Given the description of an element on the screen output the (x, y) to click on. 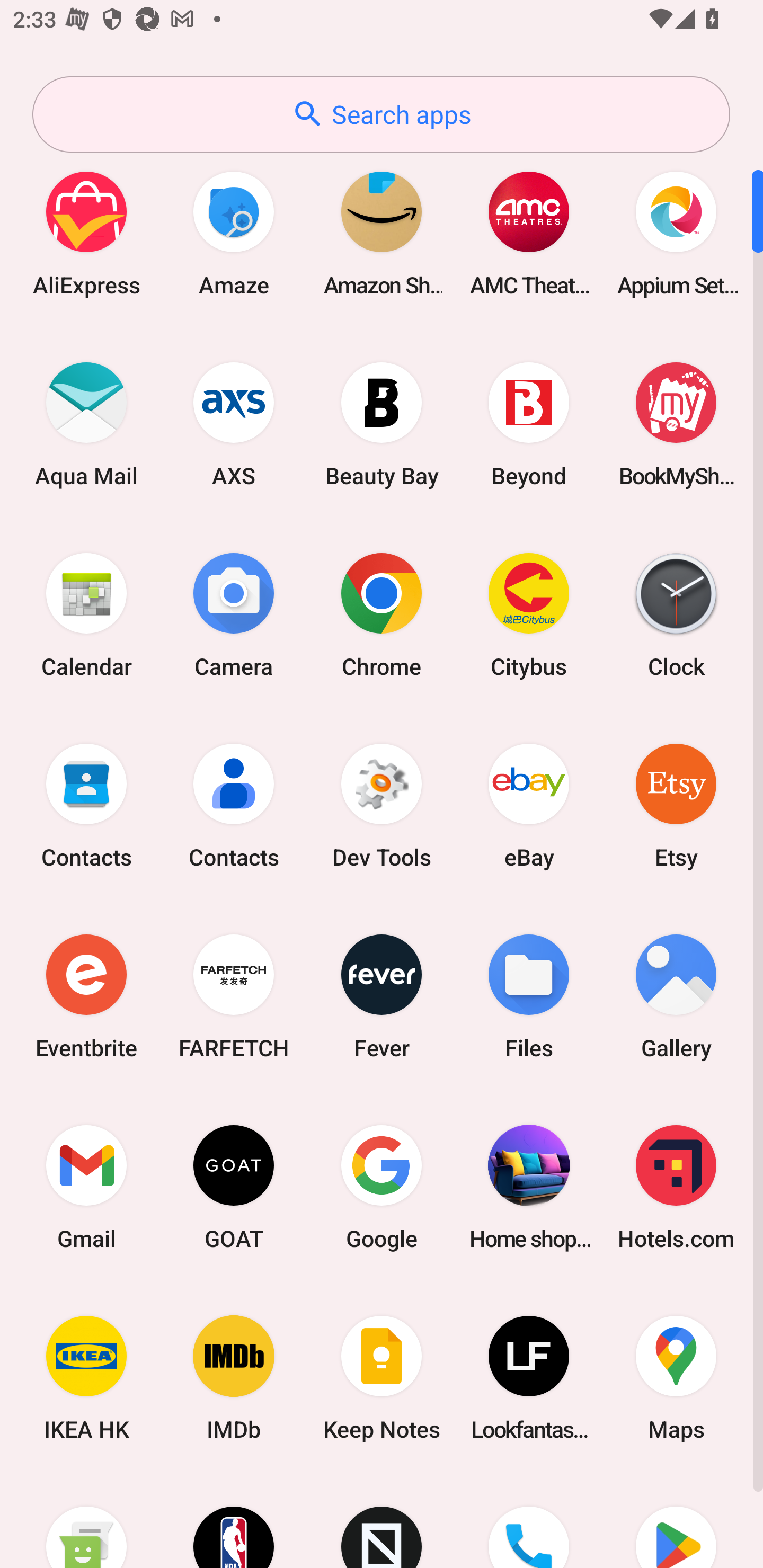
  Search apps (381, 114)
AliExpress (86, 233)
Amaze (233, 233)
Amazon Shopping (381, 233)
AMC Theatres (528, 233)
Appium Settings (676, 233)
Aqua Mail (86, 424)
AXS (233, 424)
Beauty Bay (381, 424)
Beyond (528, 424)
BookMyShow (676, 424)
Calendar (86, 614)
Camera (233, 614)
Chrome (381, 614)
Citybus (528, 614)
Clock (676, 614)
Contacts (86, 805)
Contacts (233, 805)
Dev Tools (381, 805)
eBay (528, 805)
Etsy (676, 805)
Eventbrite (86, 996)
FARFETCH (233, 996)
Fever (381, 996)
Files (528, 996)
Gallery (676, 996)
Gmail (86, 1186)
GOAT (233, 1186)
Google (381, 1186)
Home shopping (528, 1186)
Hotels.com (676, 1186)
IKEA HK (86, 1377)
IMDb (233, 1377)
Keep Notes (381, 1377)
Lookfantastic (528, 1377)
Maps (676, 1377)
Messaging (86, 1520)
NBA (233, 1520)
Novelship (381, 1520)
Phone (528, 1520)
Play Store (676, 1520)
